Given the description of an element on the screen output the (x, y) to click on. 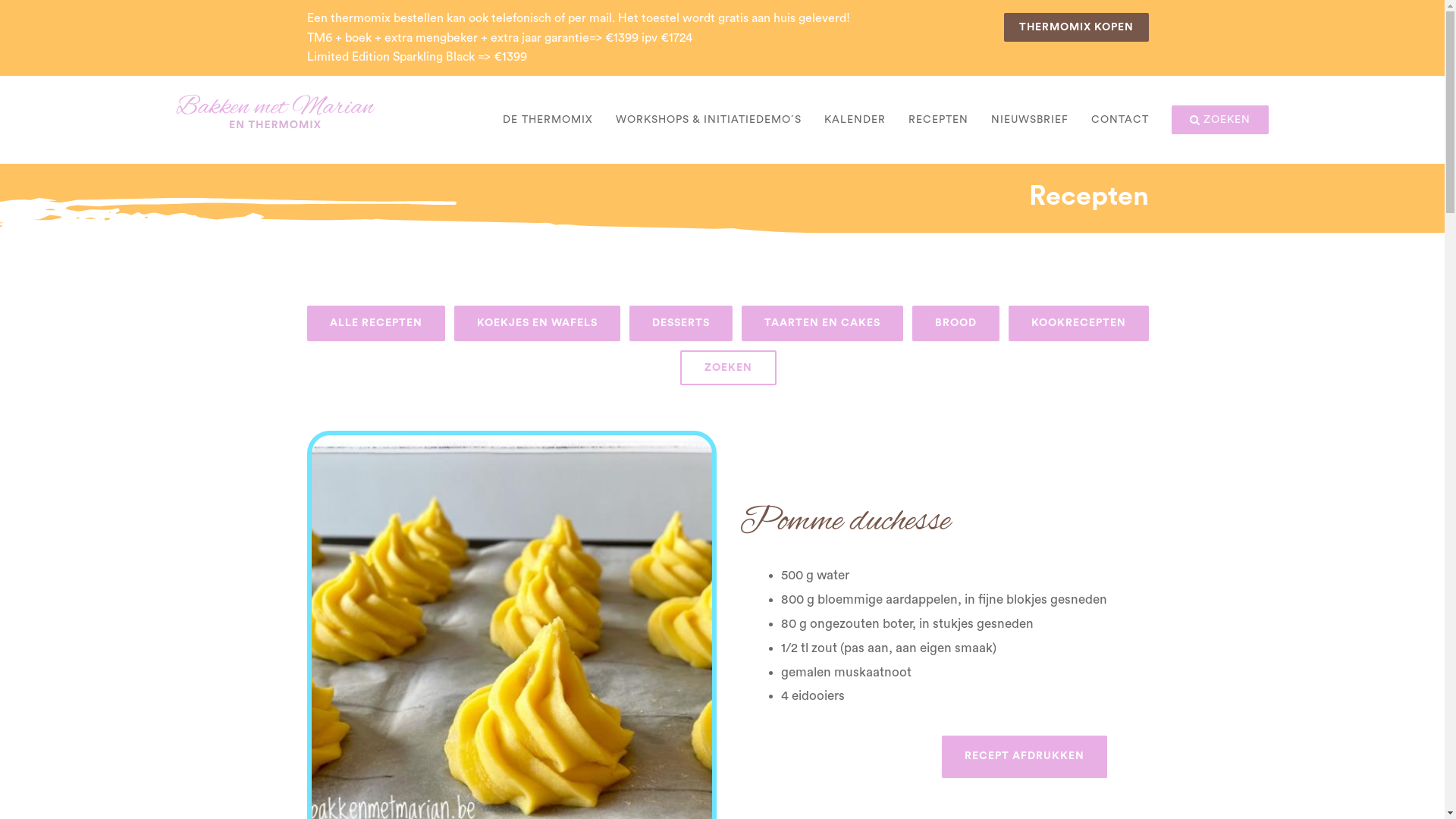
KALENDER Element type: text (854, 119)
RECEPT AFDRUKKEN Element type: text (1024, 756)
TAARTEN EN CAKES Element type: text (822, 322)
DESSERTS Element type: text (680, 322)
NIEUWSBRIEF Element type: text (1029, 119)
RECEPTEN Element type: text (938, 119)
THERMOMIX KOPEN Element type: text (1076, 26)
BROOD Element type: text (955, 322)
ZOEKEN Element type: text (1220, 119)
CONTACT Element type: text (1119, 119)
DE THERMOMIX Element type: text (547, 119)
KOEKJES EN WAFELS Element type: text (537, 322)
KOOKRECEPTEN Element type: text (1078, 322)
ZOEKEN Element type: text (727, 367)
ALLE RECEPTEN Element type: text (376, 322)
